Given the description of an element on the screen output the (x, y) to click on. 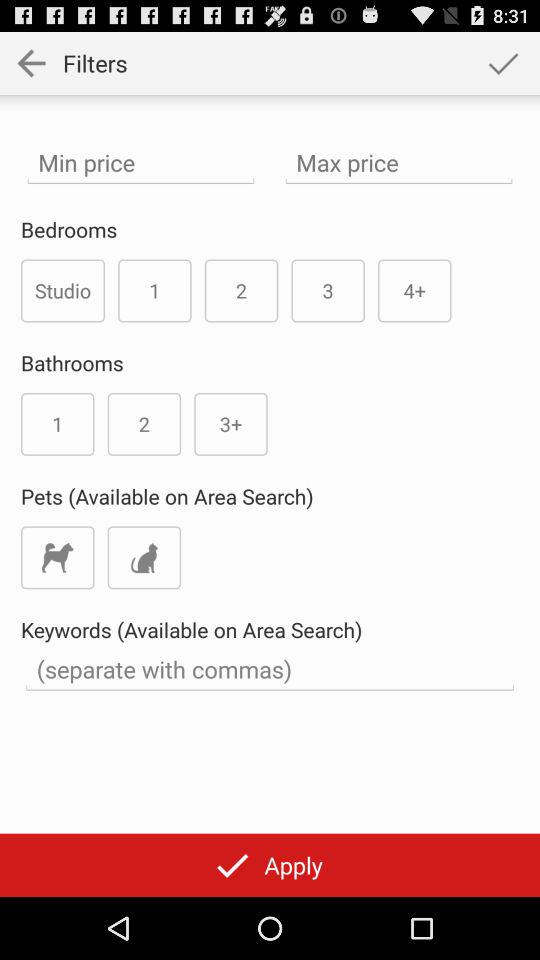
press the icon below the bedrooms app (63, 290)
